Given the description of an element on the screen output the (x, y) to click on. 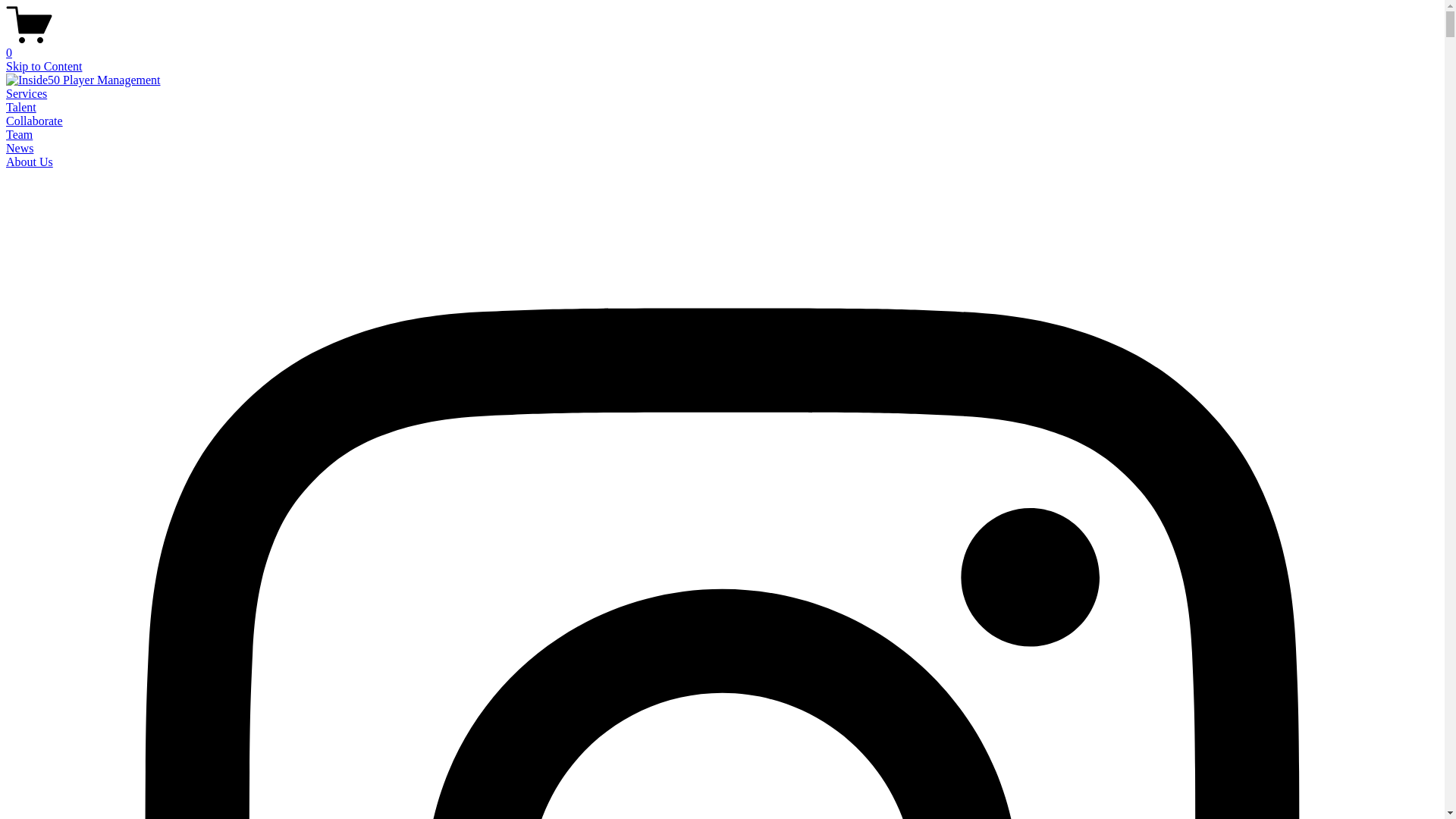
Collaborate Element type: text (34, 120)
Team Element type: text (19, 134)
0 Element type: text (722, 45)
Skip to Content Element type: text (43, 65)
About Us Element type: text (29, 161)
Talent Element type: text (21, 106)
Services Element type: text (26, 93)
News Element type: text (19, 147)
